Given the description of an element on the screen output the (x, y) to click on. 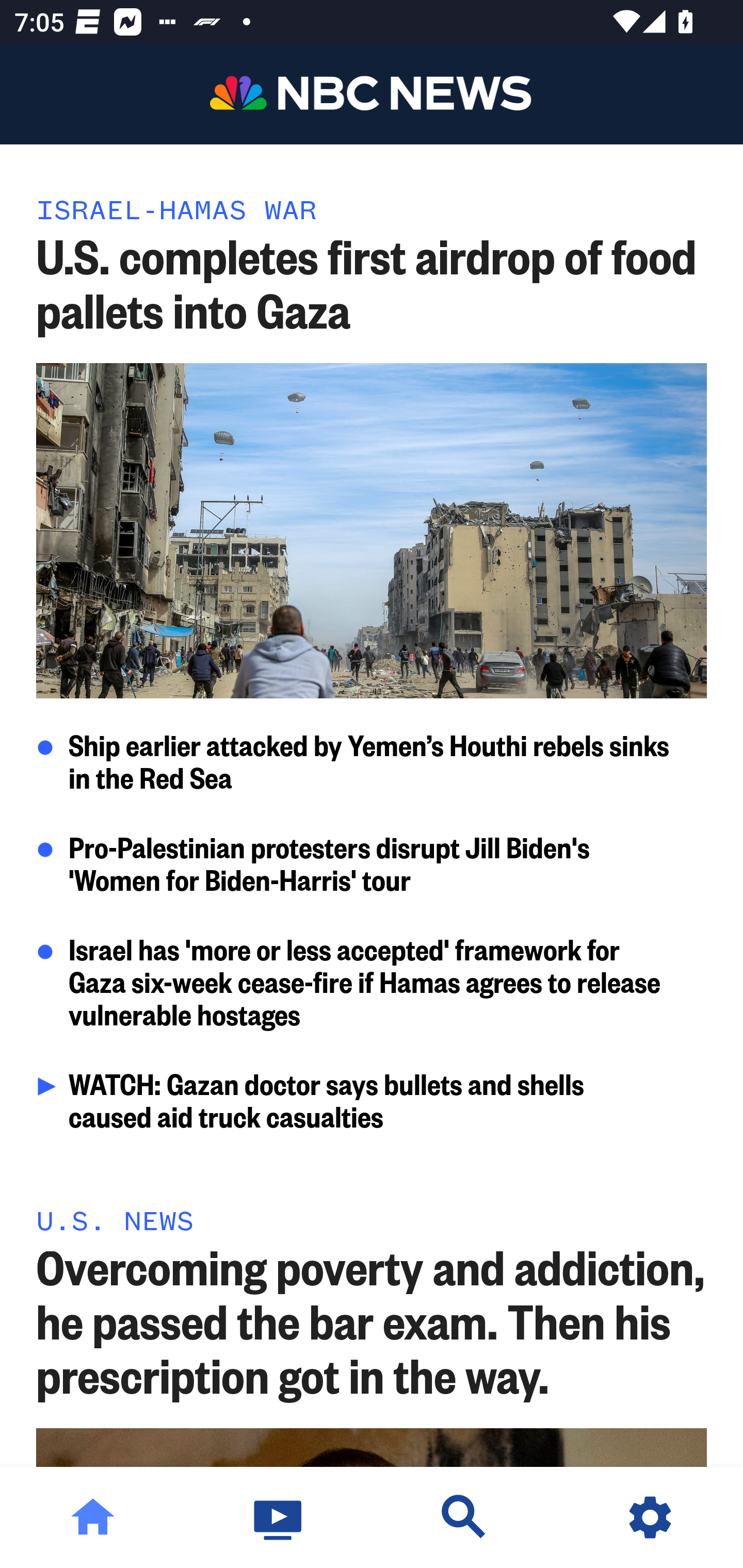
Watch (278, 1517)
Discover (464, 1517)
Settings (650, 1517)
